Given the description of an element on the screen output the (x, y) to click on. 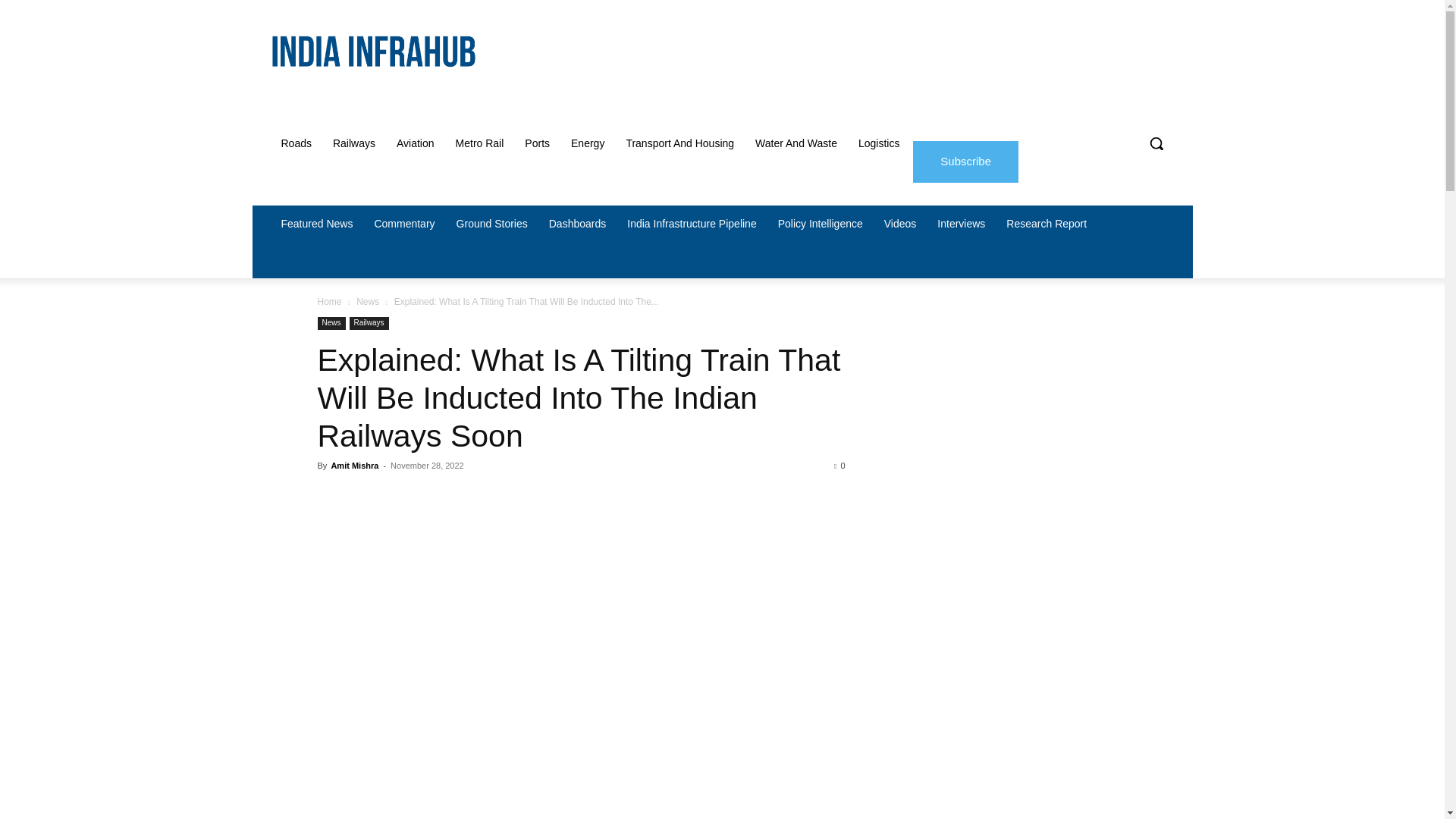
Commentary (403, 223)
Roads (295, 143)
Water And Waste (795, 143)
Energy (587, 143)
Dashboards (577, 223)
Railways (353, 143)
Metro Rail (480, 143)
Policy Intelligence (820, 223)
Aviation (415, 143)
India Infrastructure Pipeline (691, 223)
View all posts in News (367, 301)
Subscribe (964, 161)
Ground Stories (491, 223)
Transport And Housing (679, 143)
Logistics (878, 143)
